Given the description of an element on the screen output the (x, y) to click on. 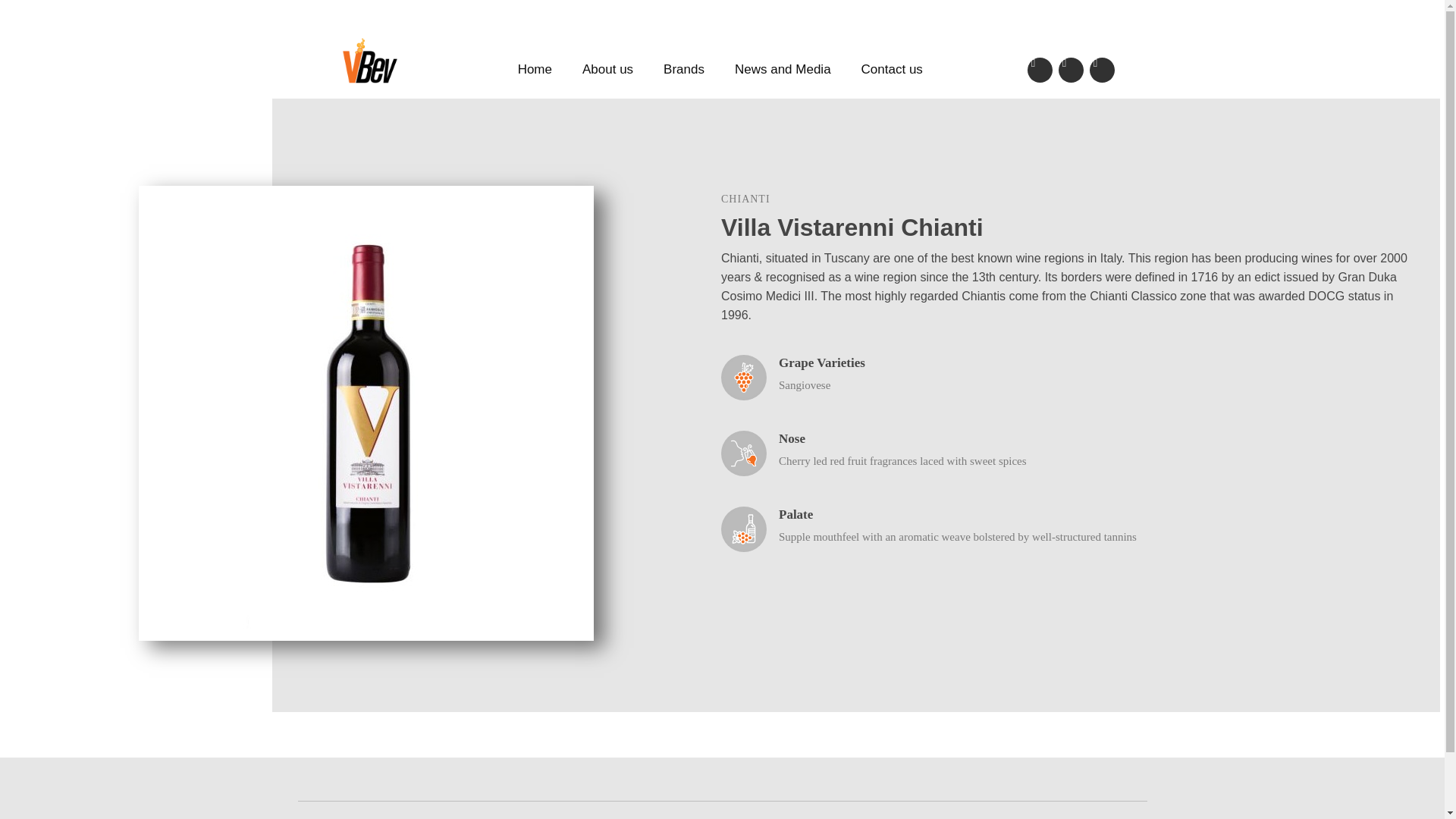
About us (607, 69)
Contact us (891, 69)
Brands (683, 69)
Home (534, 69)
News and Media (782, 69)
